Given the description of an element on the screen output the (x, y) to click on. 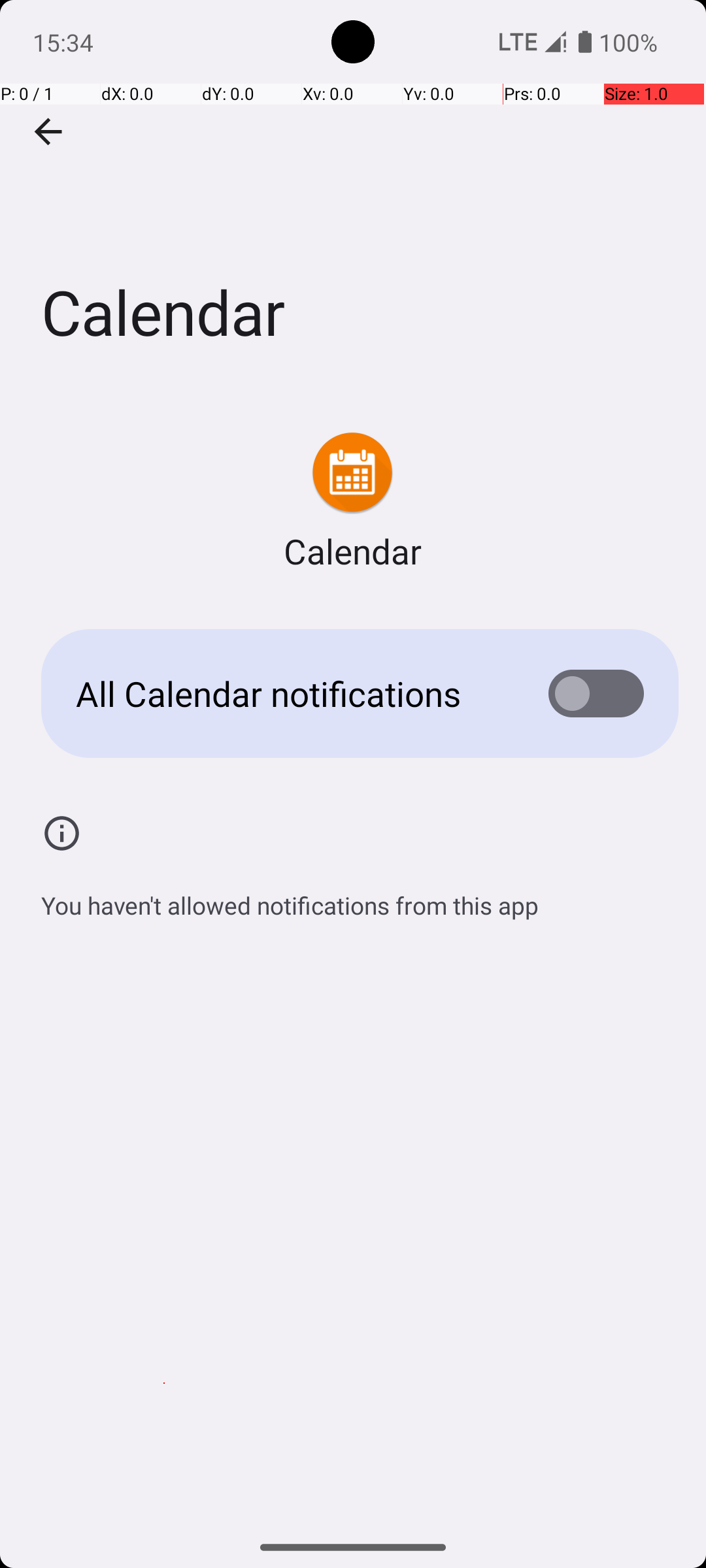
All Calendar notifications Element type: android.widget.TextView (291, 693)
You haven't allowed notifications from this app Element type: android.widget.TextView (290, 898)
